Given the description of an element on the screen output the (x, y) to click on. 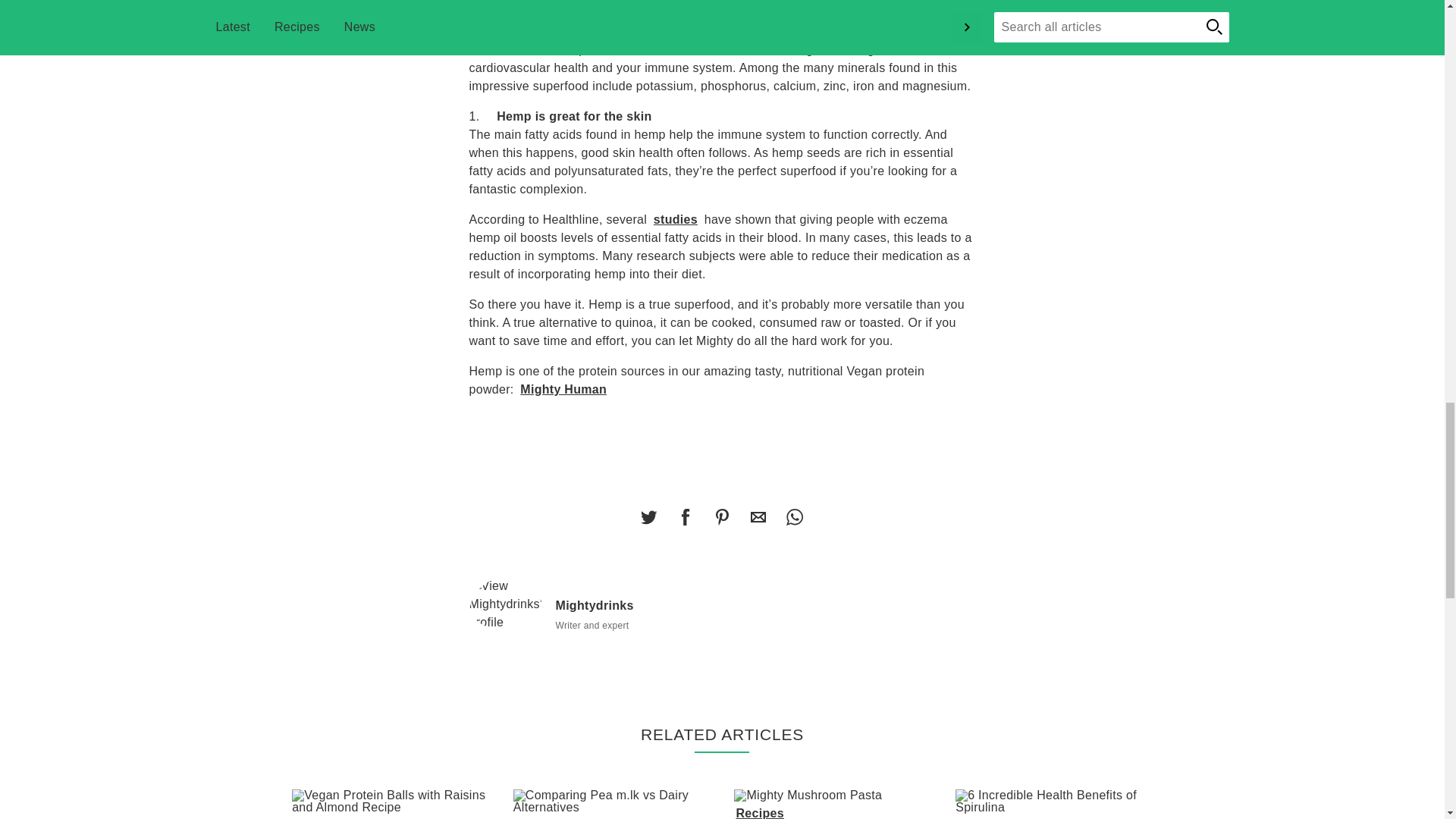
Mightydrinks (508, 604)
Share this on Twitter (648, 517)
Share this on Pinterest (721, 517)
Share this on Facebook (684, 517)
Share this on WhatsApp (793, 517)
Share this by Email (757, 517)
